Given the description of an element on the screen output the (x, y) to click on. 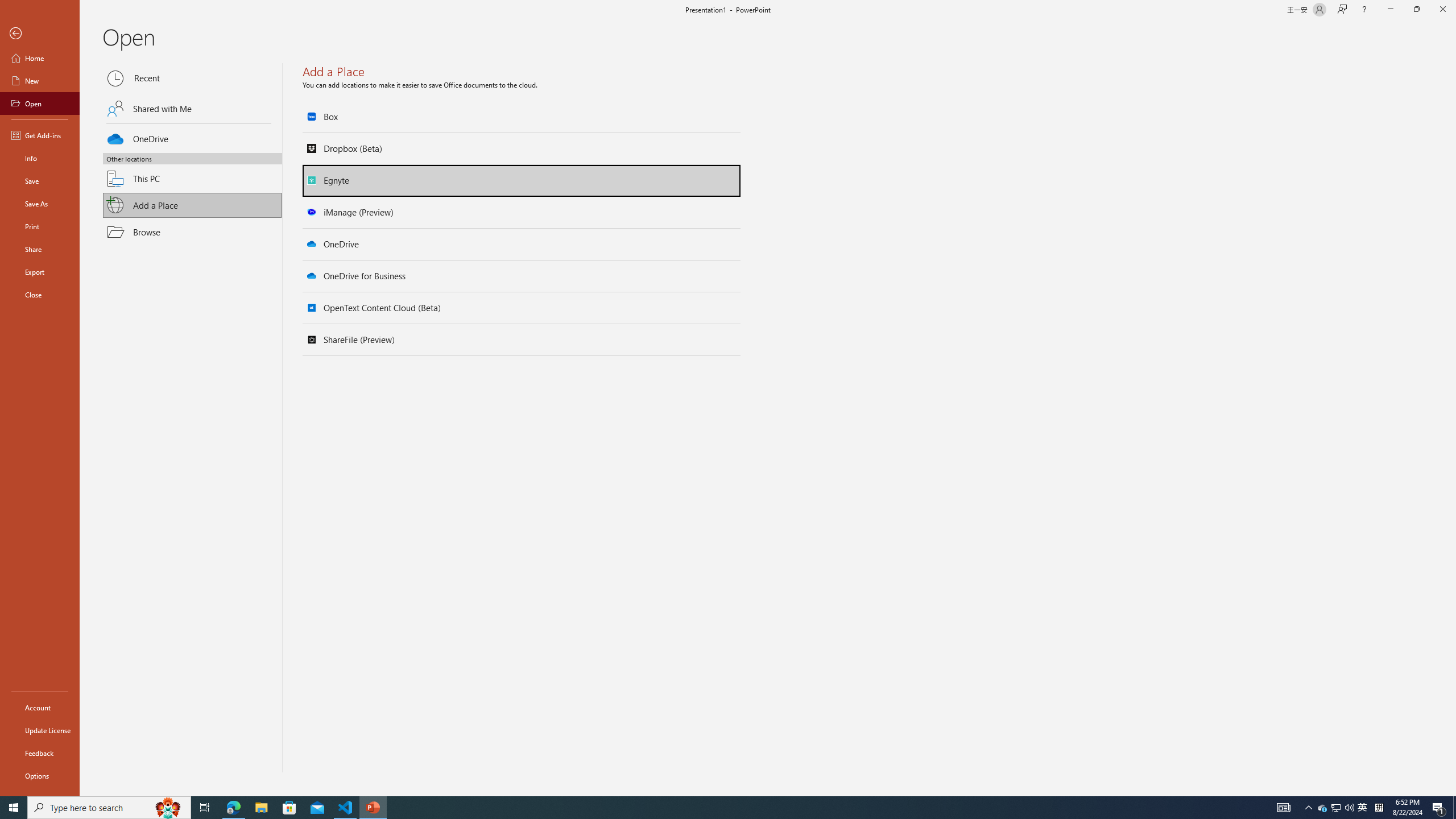
Back (40, 33)
Account (40, 707)
Update License (40, 730)
OneDrive for Business (521, 276)
Box (521, 116)
Save As (40, 203)
